Given the description of an element on the screen output the (x, y) to click on. 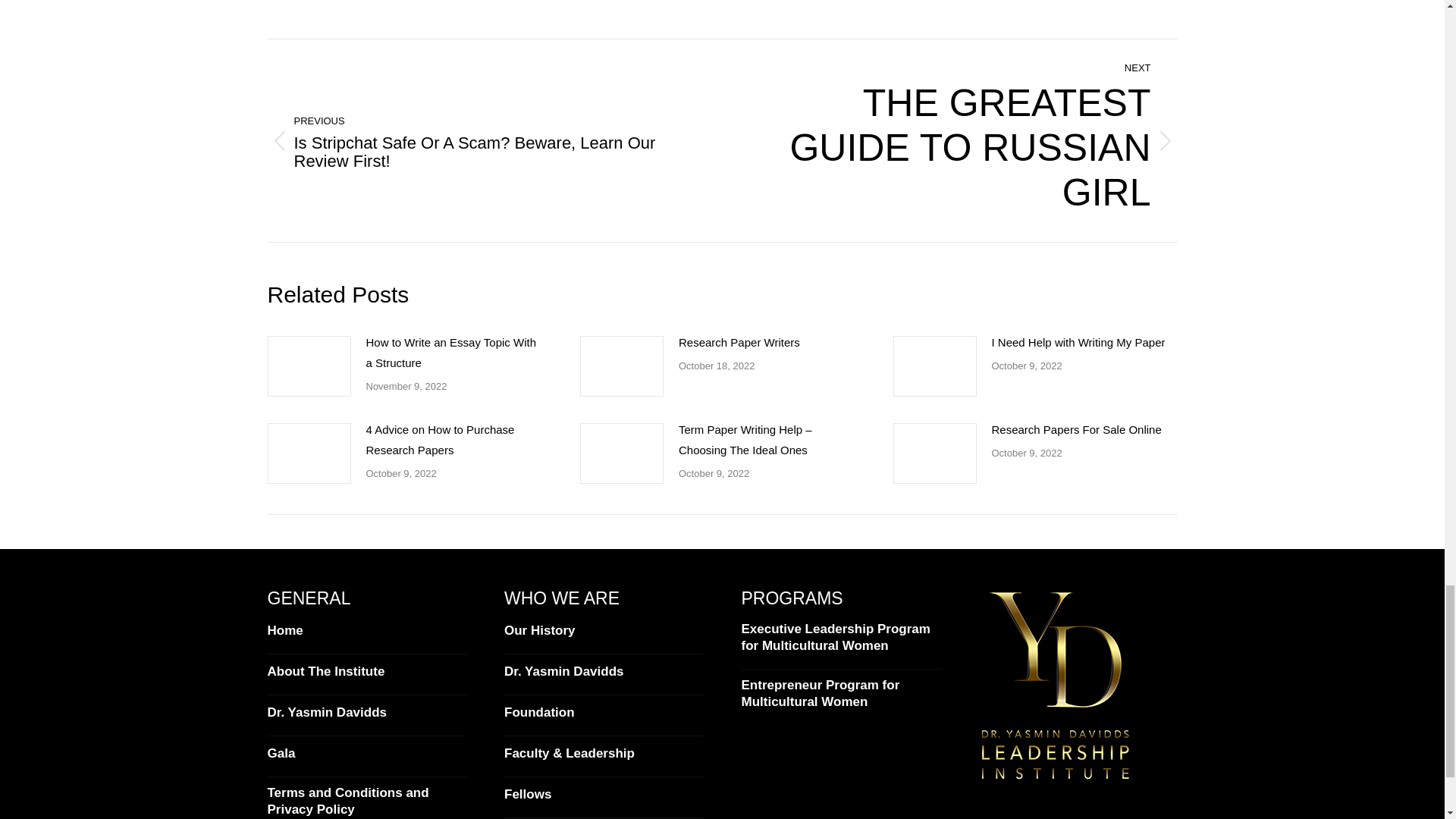
How to Write an Essay Topic With a Structure (960, 140)
Research Paper Writers (453, 352)
I Need Help with Writing My Paper (738, 342)
